Given the description of an element on the screen output the (x, y) to click on. 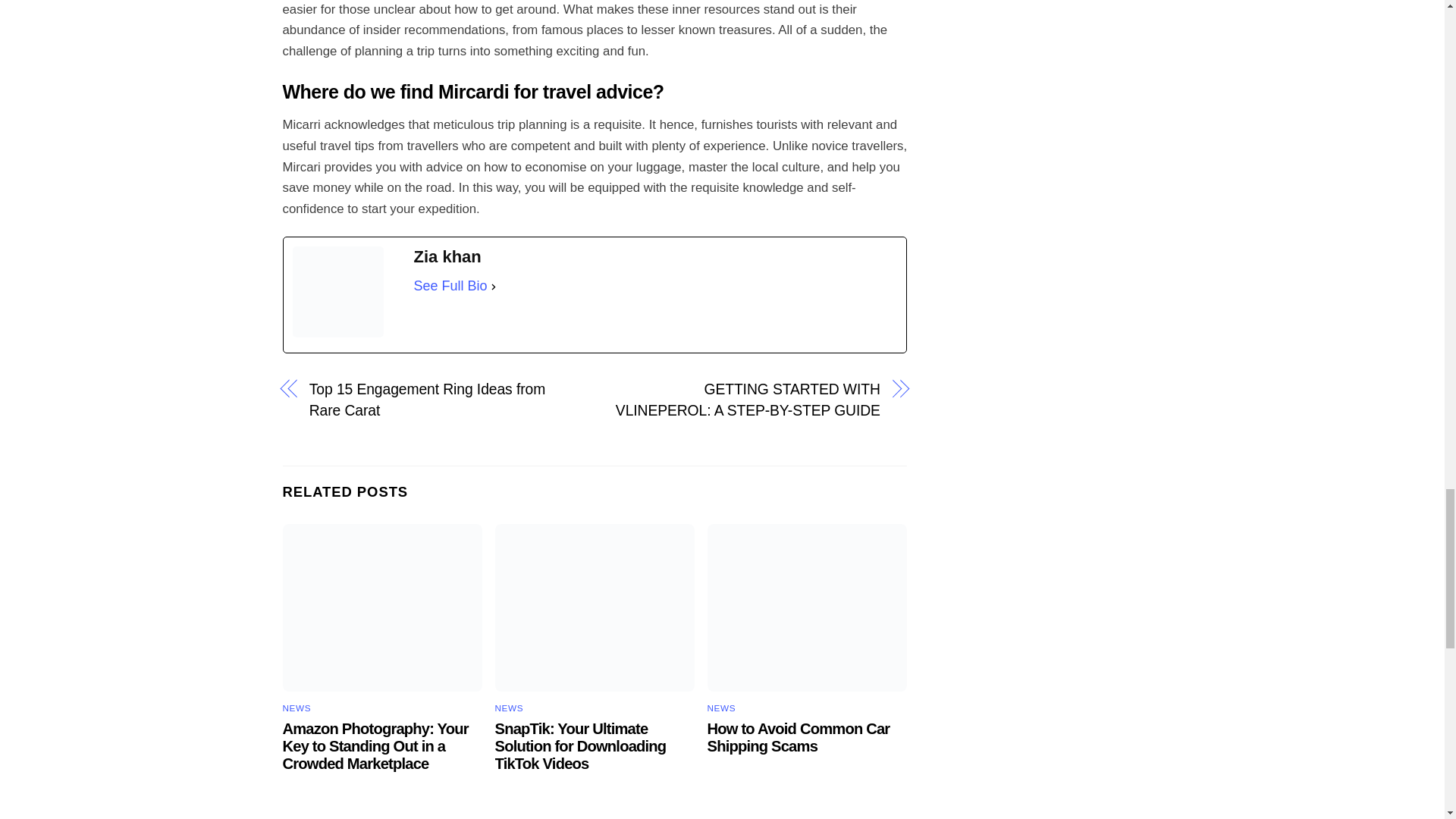
Tips on Avoiding Common Car Shipping Scams (807, 607)
Designer 3 (595, 607)
